Given the description of an element on the screen output the (x, y) to click on. 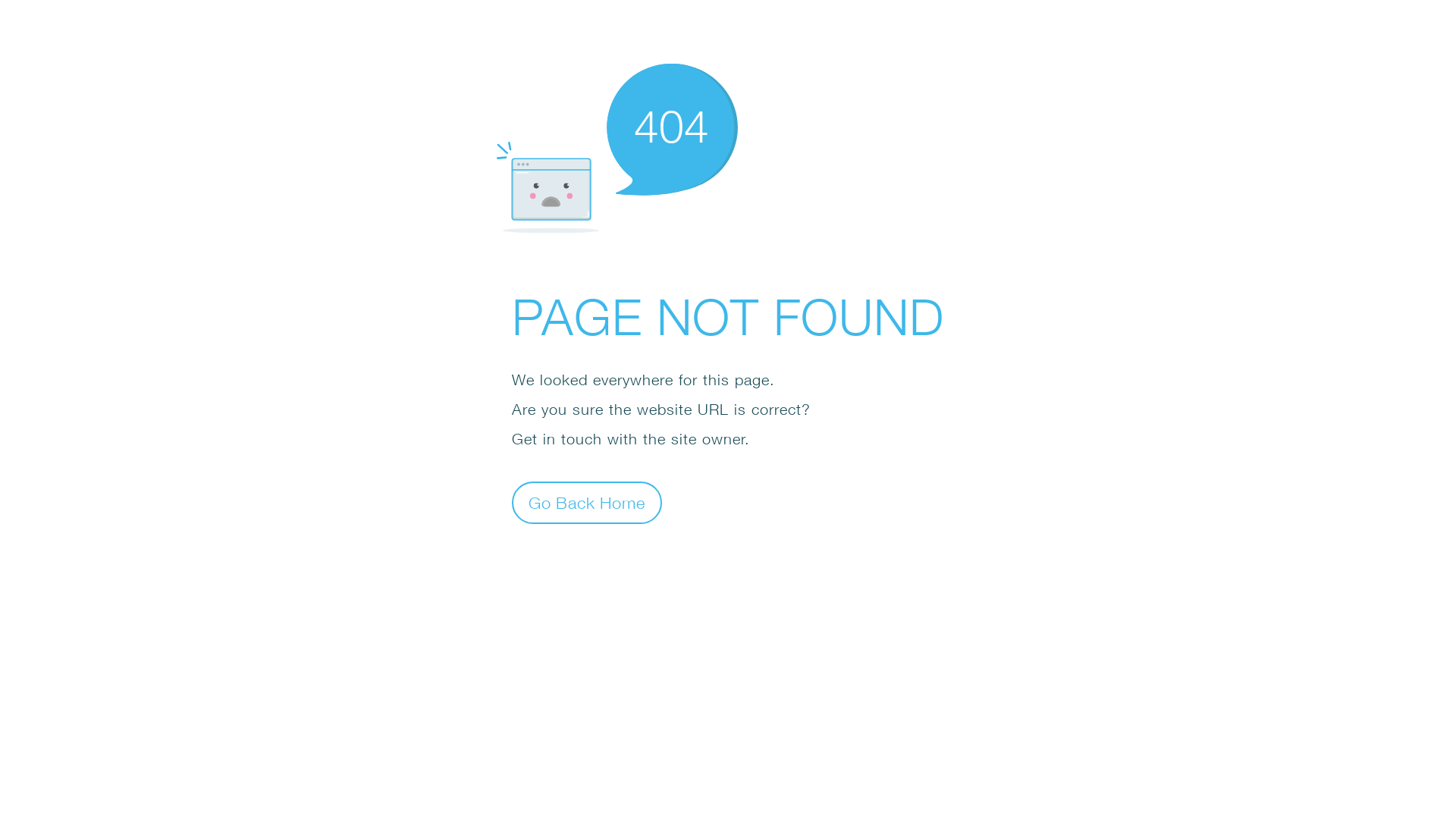
Go Back Home Element type: text (586, 502)
